Given the description of an element on the screen output the (x, y) to click on. 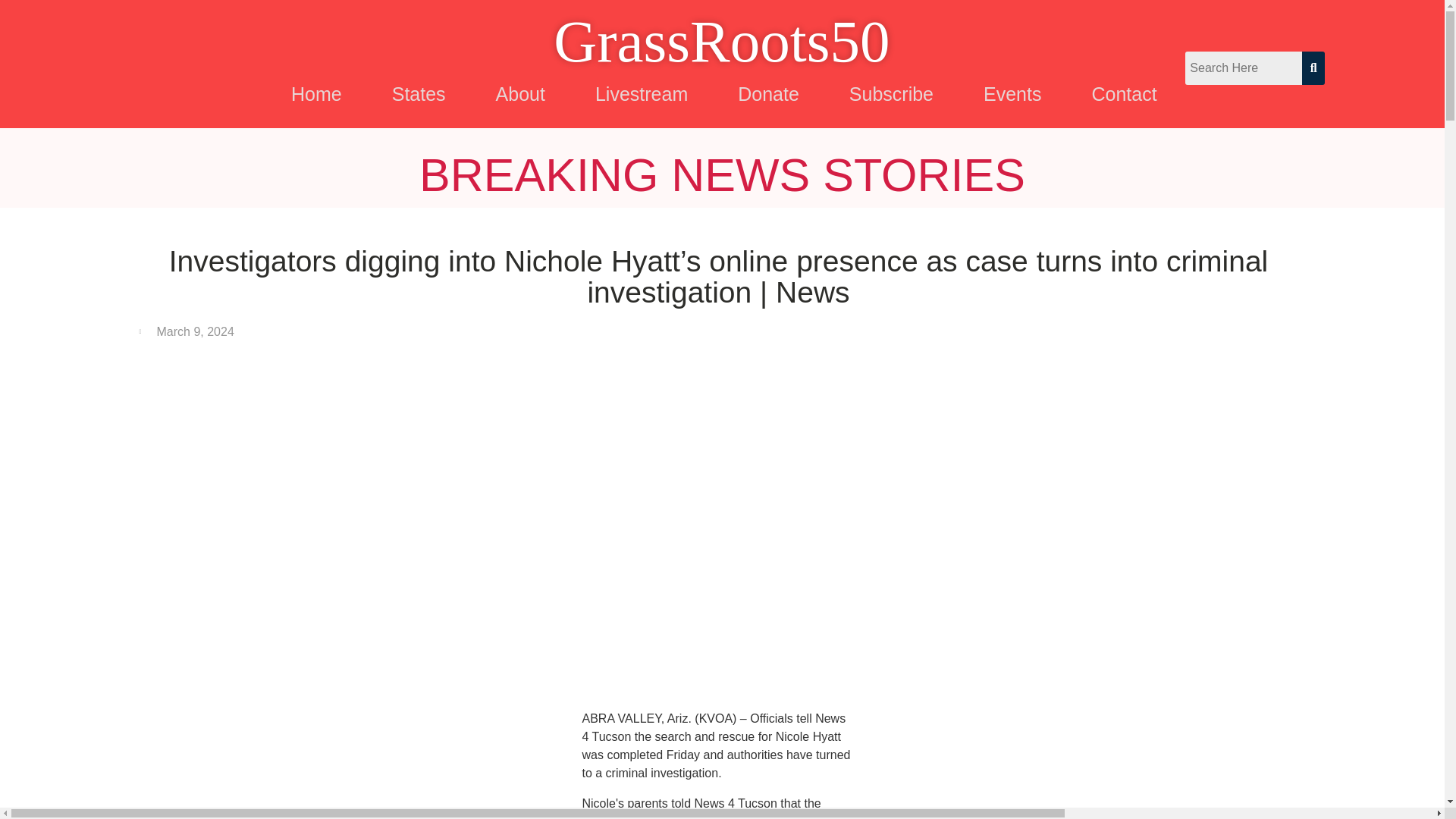
States (419, 93)
March 9, 2024 (186, 331)
Contact (1123, 93)
Search (1243, 68)
Livestream (641, 93)
About (520, 93)
Home (316, 93)
Events (1011, 93)
Subscribe (890, 93)
Donate (767, 93)
